Given the description of an element on the screen output the (x, y) to click on. 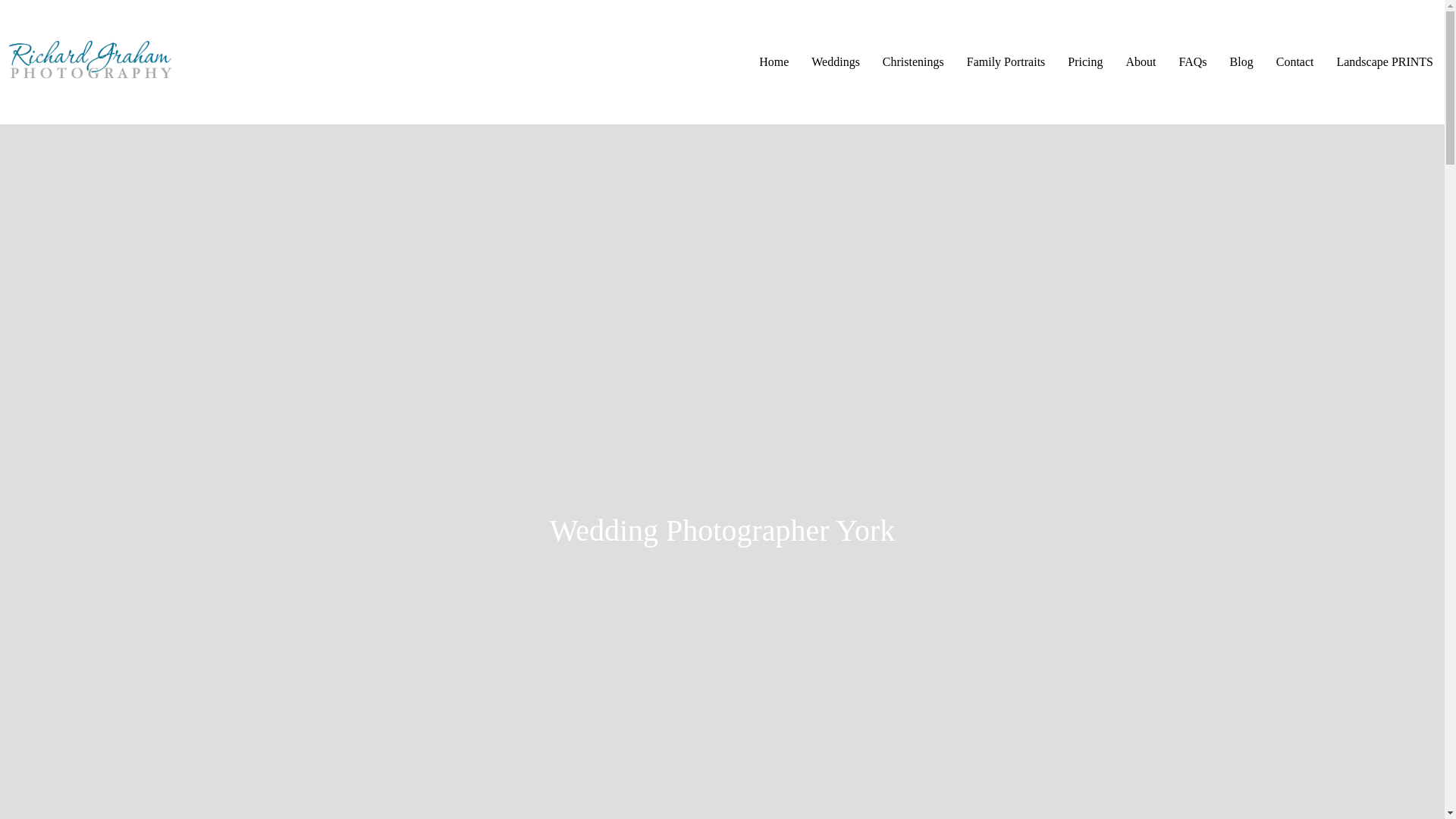
Home (773, 61)
Weddings (834, 61)
Pricing (1085, 61)
Family Portraits (1006, 61)
About (1141, 61)
Blog (1241, 61)
Christenings (912, 61)
Contact (1294, 61)
FAQs (1192, 61)
